Given the description of an element on the screen output the (x, y) to click on. 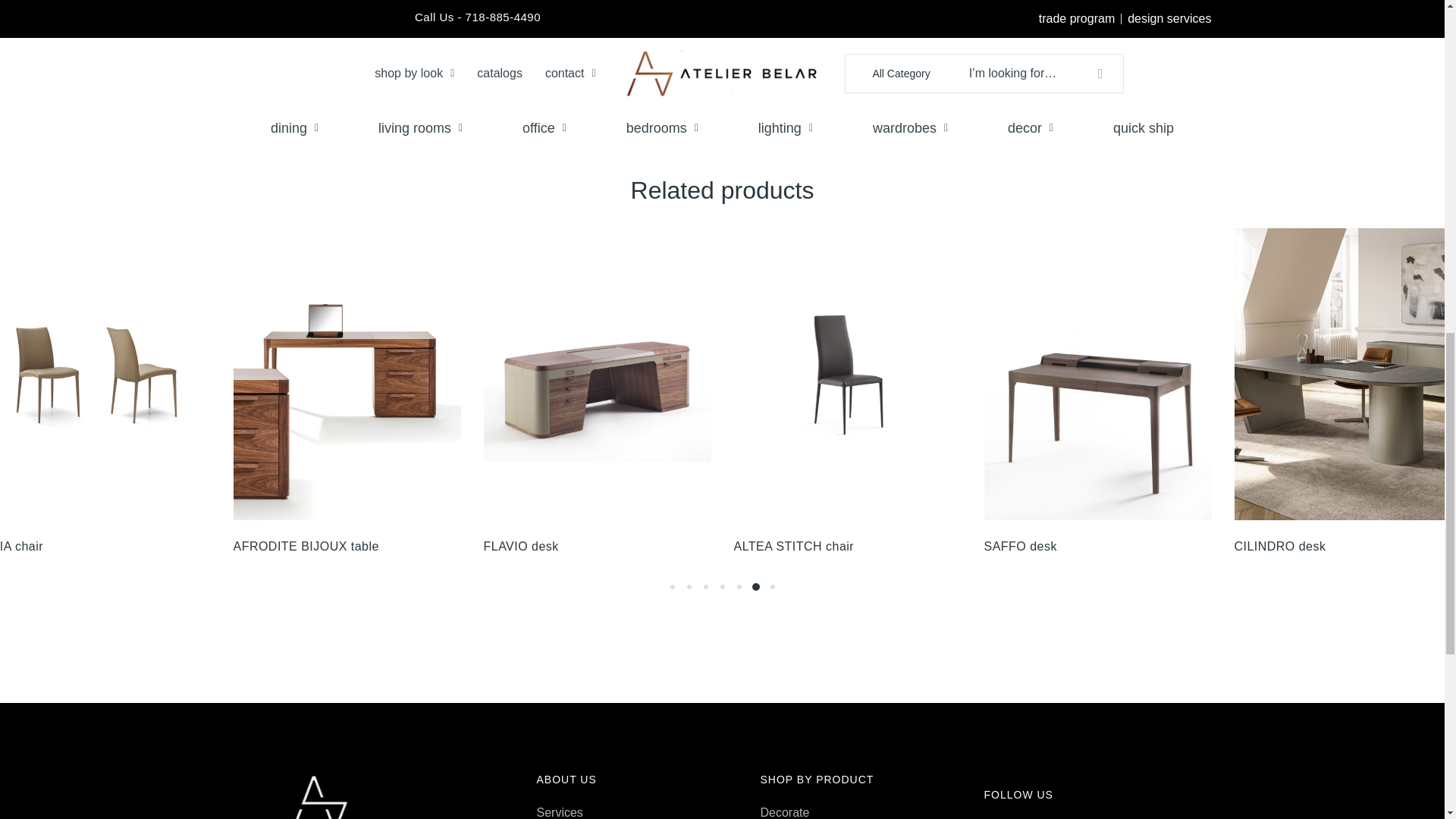
Email to a Friend (868, 29)
Share on Pinterest (838, 29)
Share on LinkedIn (807, 29)
Share on facebook (778, 29)
